Given the description of an element on the screen output the (x, y) to click on. 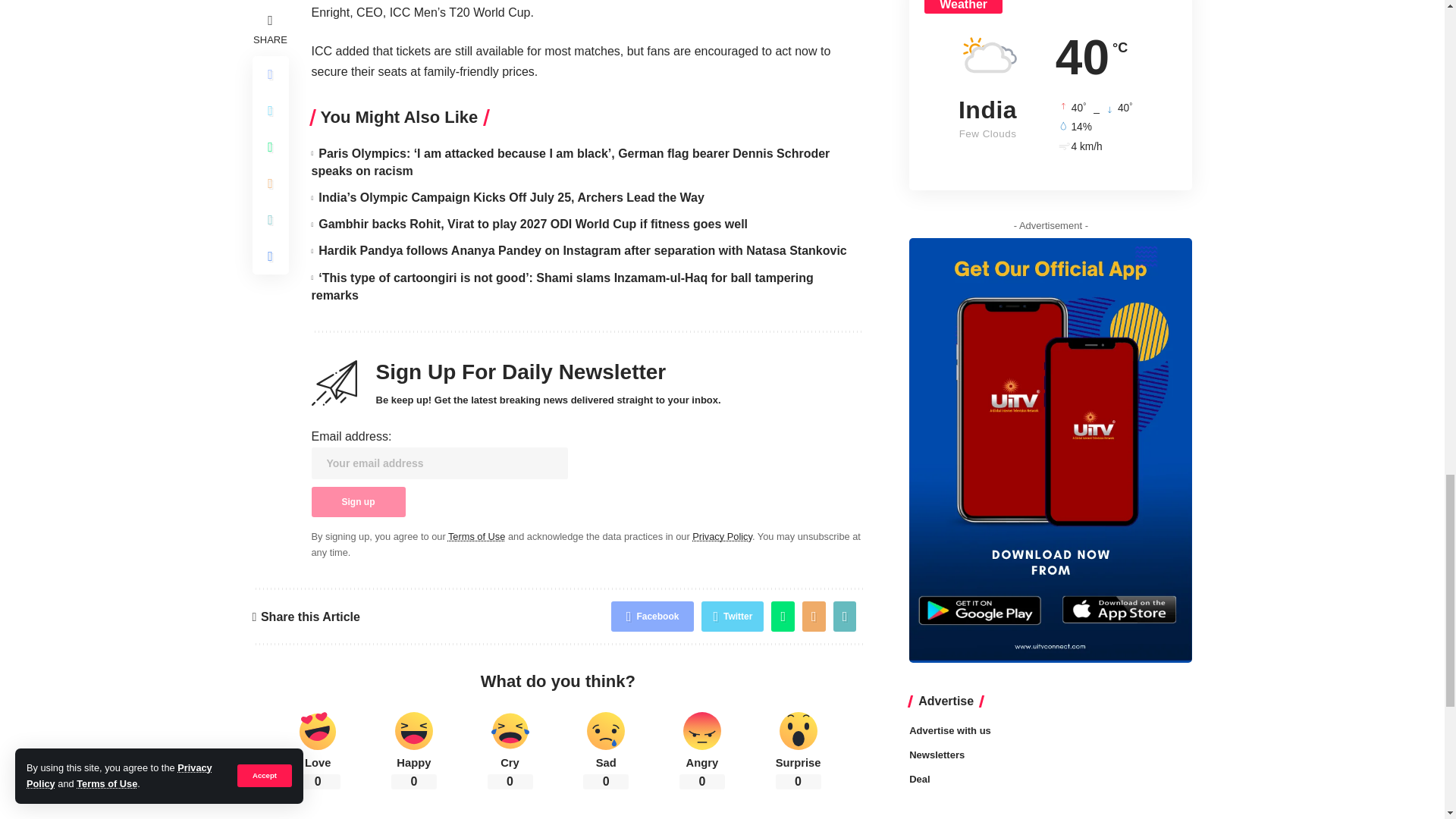
Sign up (357, 501)
